Given the description of an element on the screen output the (x, y) to click on. 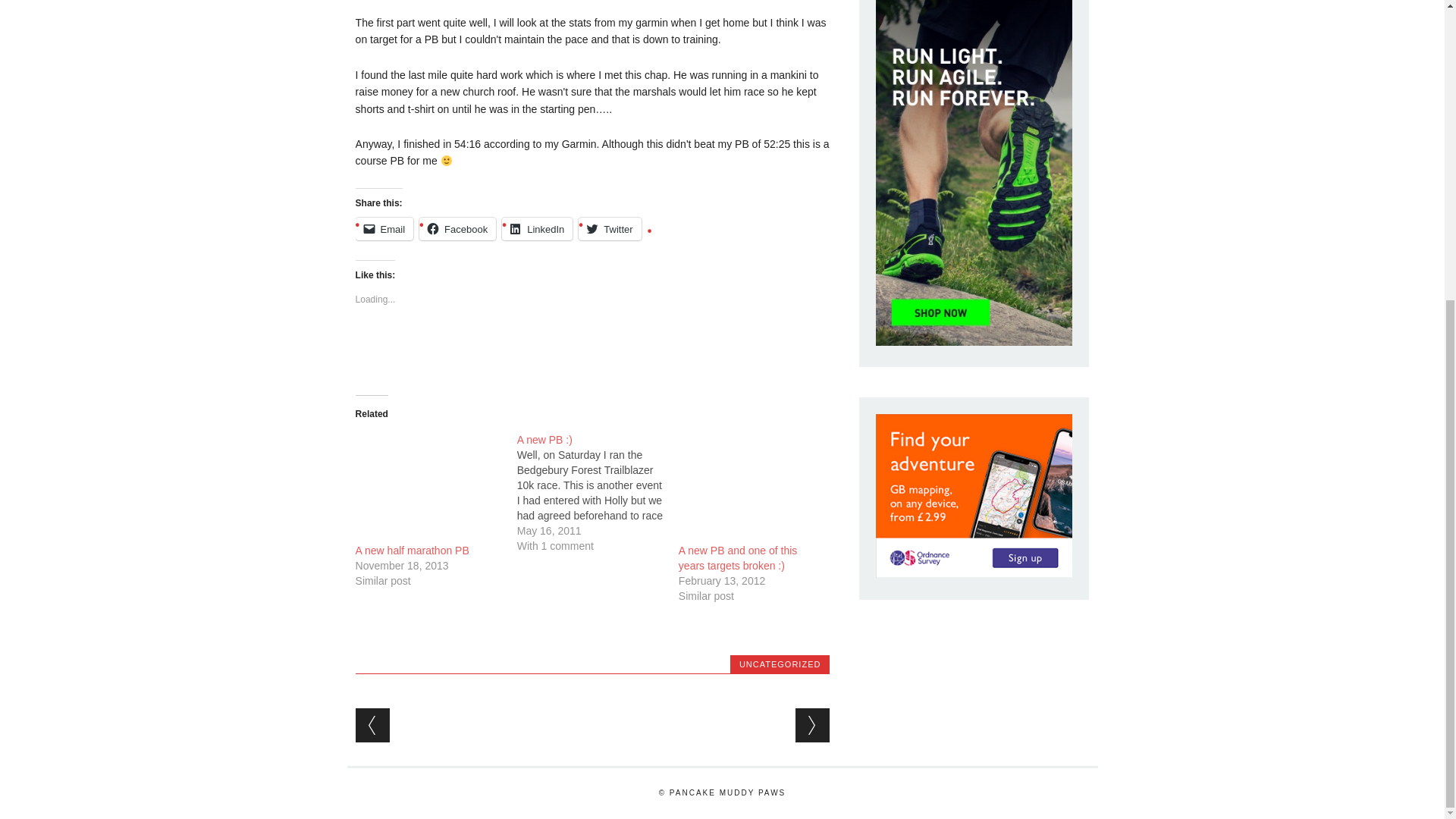
Twitter (609, 228)
Click to email a link to a friend (384, 228)
A new half marathon PB (428, 482)
Click to share on Twitter (609, 228)
Click to share on Facebook (457, 228)
LinkedIn (537, 228)
Like or Reblog (592, 352)
Click to share on LinkedIn (537, 228)
A new half marathon PB (411, 550)
A new half marathon PB (411, 550)
